Given the description of an element on the screen output the (x, y) to click on. 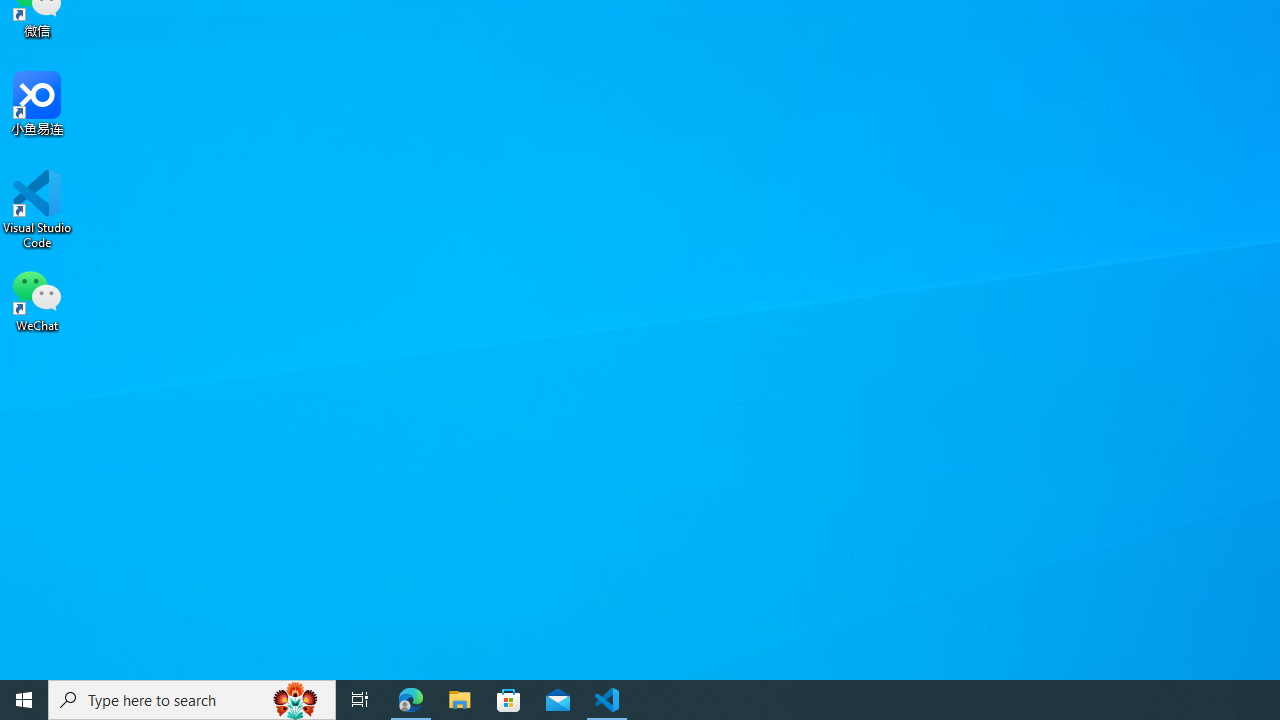
Visual Studio Code (37, 209)
WeChat (37, 299)
